Given the description of an element on the screen output the (x, y) to click on. 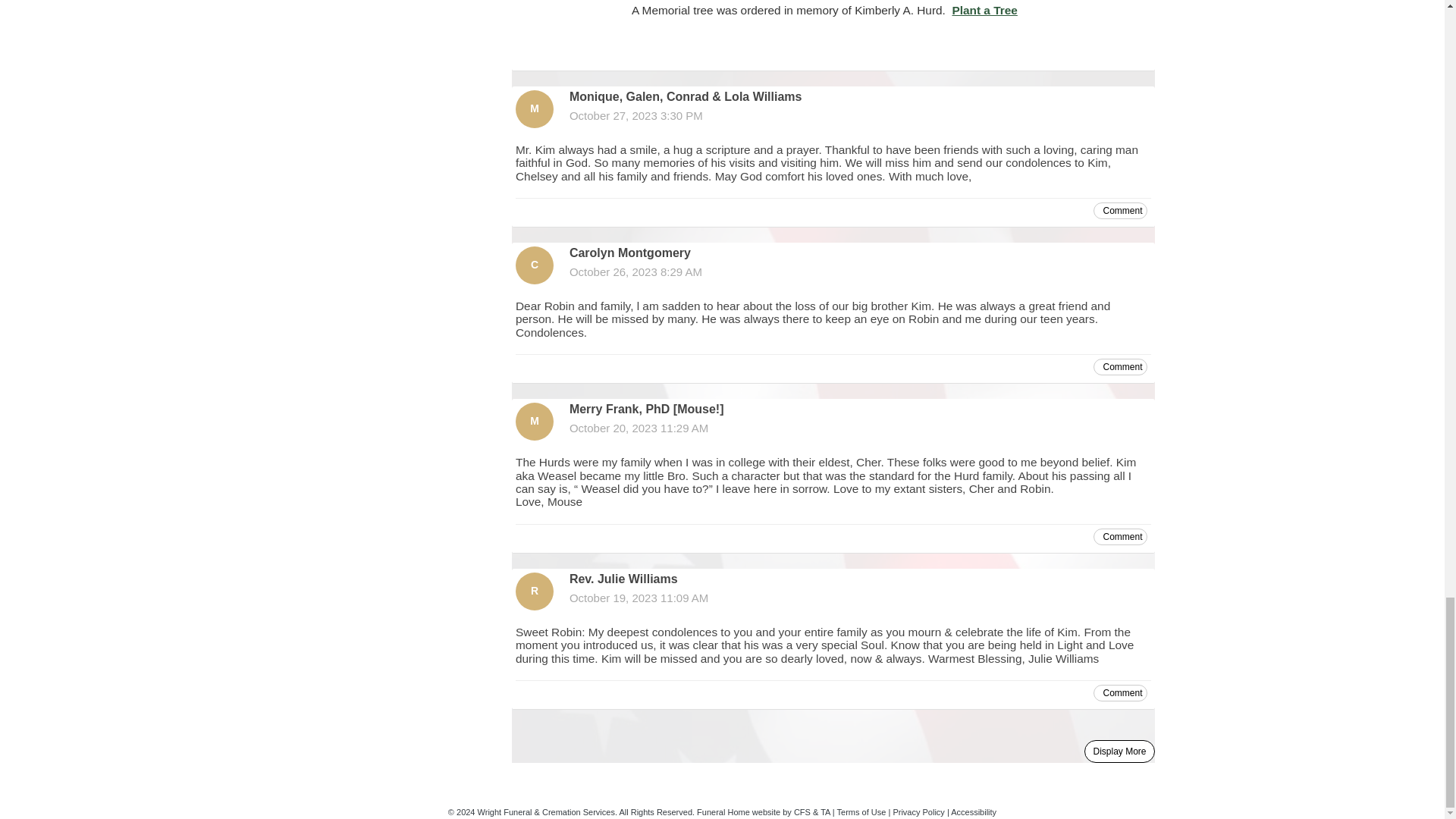
Plant a Tree (984, 10)
Rev. Julie Williams (534, 591)
Carolyn Montgomery (534, 265)
